Given the description of an element on the screen output the (x, y) to click on. 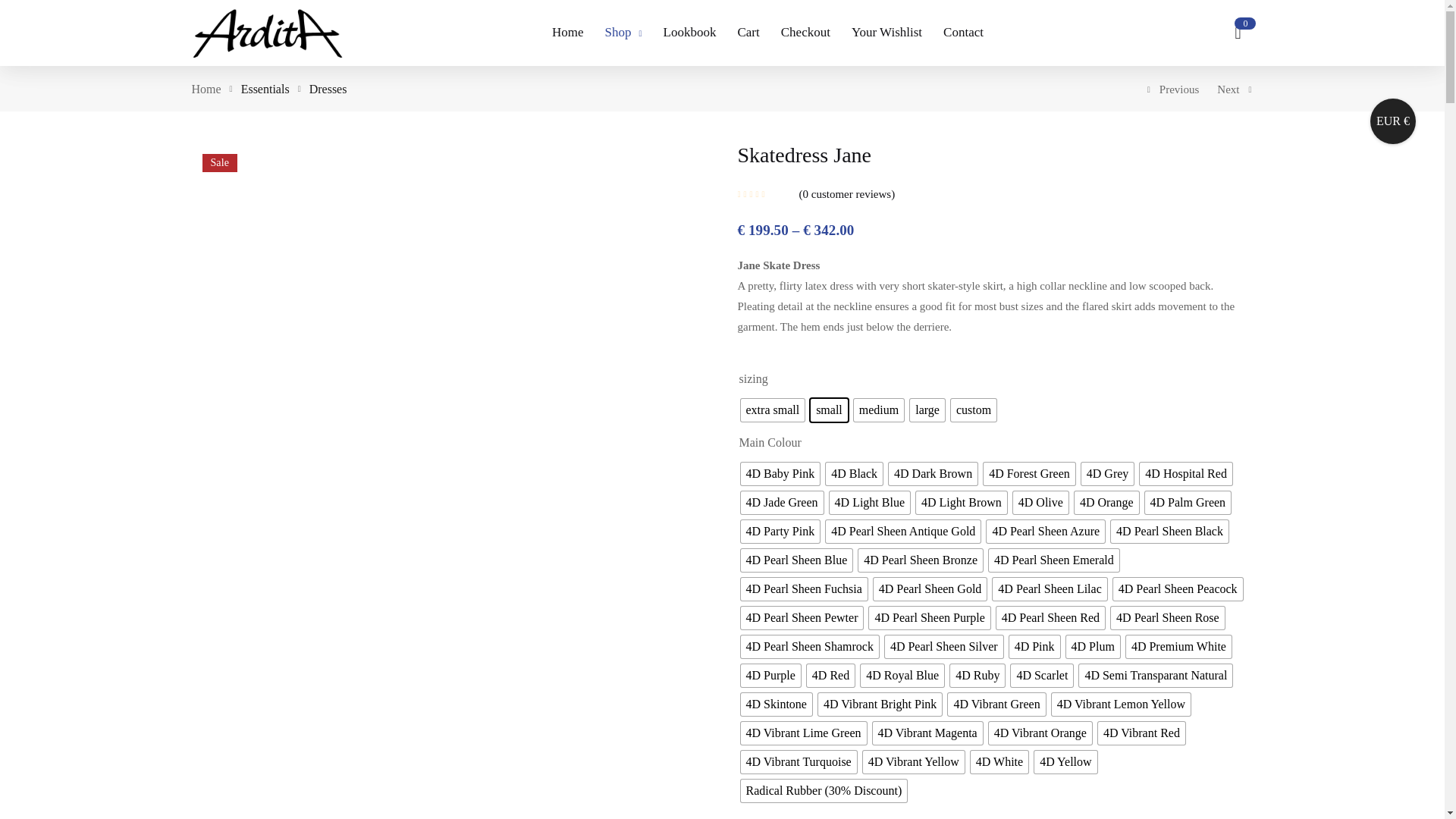
4D Dark Brown (932, 473)
custom (972, 409)
View your shopping cart (1237, 32)
extra small (772, 409)
4D Baby Pink (779, 473)
small (828, 409)
medium (878, 409)
large (927, 409)
4D Forest Green (1029, 473)
4D Grey (1107, 473)
4D Hospital Red (1185, 473)
4D Black (853, 473)
